Given the description of an element on the screen output the (x, y) to click on. 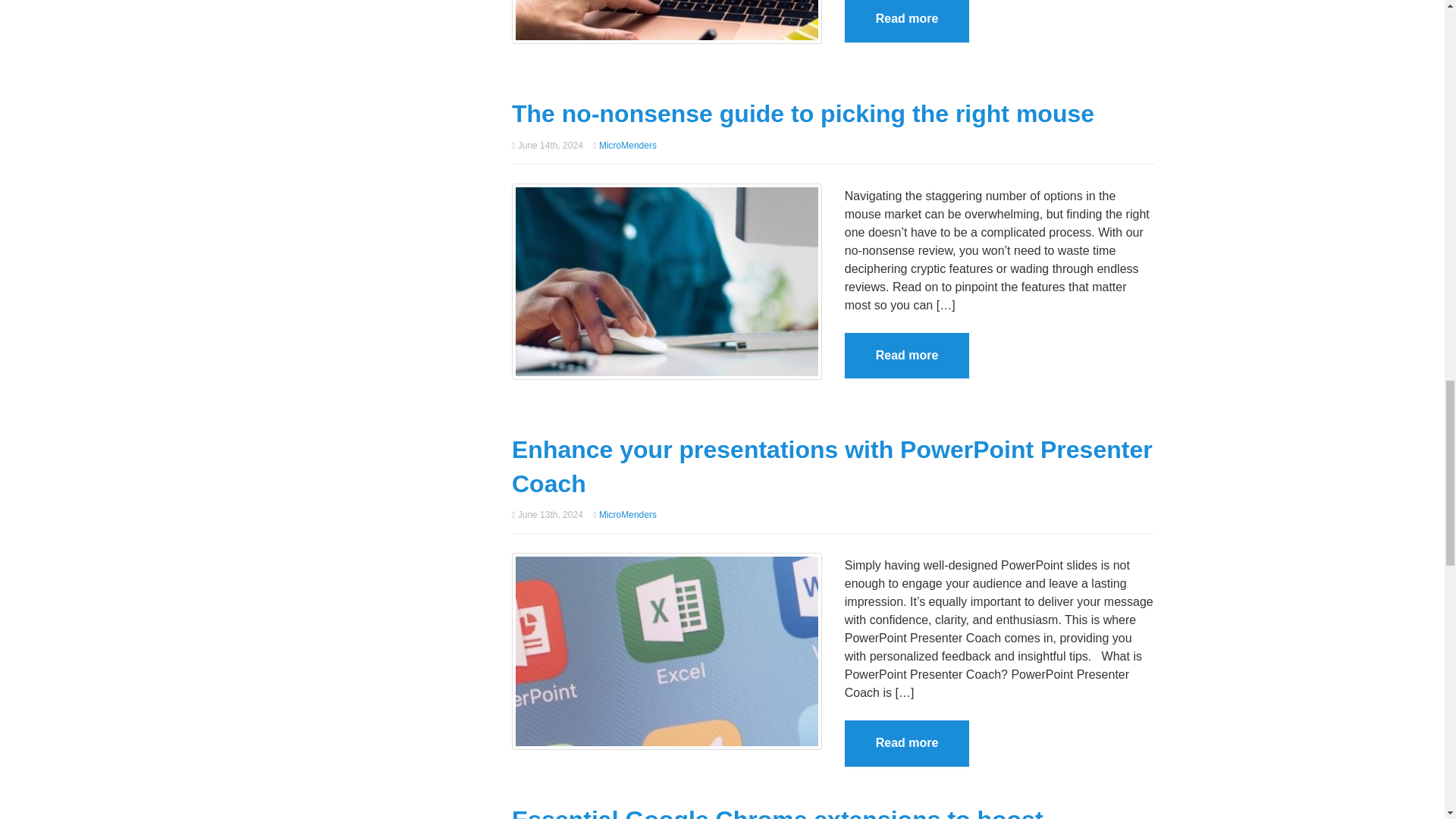
The no-nonsense guide to picking the right mouse (667, 279)
Essential Google Chrome extensions to boost productivity (777, 812)
Posts by MicroMenders (627, 514)
Posts by MicroMenders (627, 144)
Enhance your presentations with PowerPoint Presenter Coach (667, 649)
Enhance your presentations with PowerPoint Presenter Coach (832, 466)
The no-nonsense guide to picking the right mouse (803, 113)
